Given the description of an element on the screen output the (x, y) to click on. 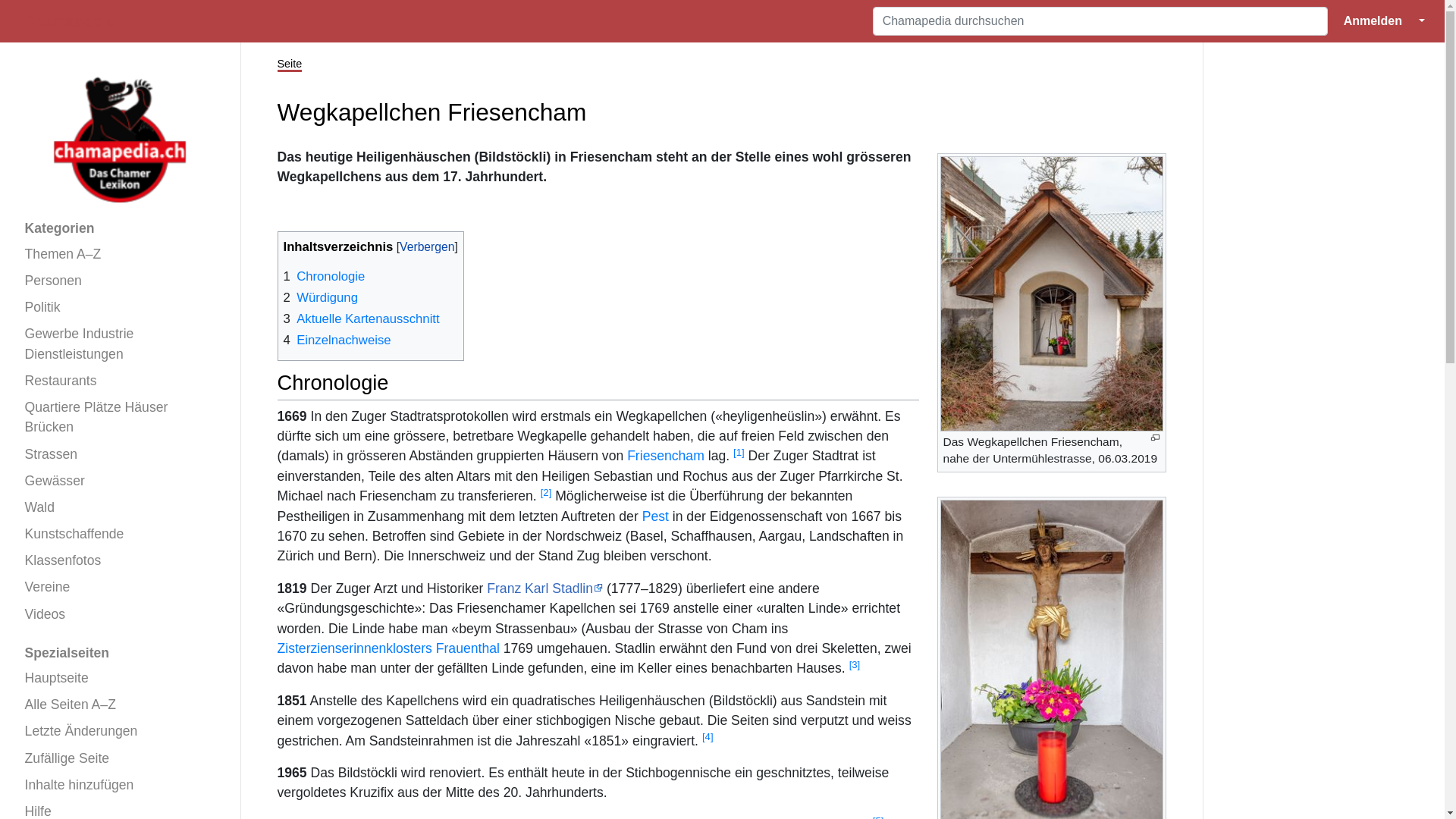
Videos Element type: text (120, 613)
Chamapedia Element type: text (69, 21)
Hauptseite Element type: text (120, 677)
Restaurants Element type: text (120, 379)
Klassenfotos Element type: text (120, 560)
Friesencham Element type: text (665, 455)
Pest Element type: text (655, 516)
Anmelden Element type: text (1372, 20)
[2] Element type: text (546, 492)
[3] Element type: text (854, 664)
Strassen Element type: text (120, 453)
Franz Karl Stadlin Element type: text (544, 588)
Gewerbe Industrie Dienstleistungen Element type: text (120, 344)
[1] Element type: text (738, 452)
Seite Element type: text (289, 64)
3 Aktuelle Kartenausschnitt Element type: text (361, 318)
Spezialseiten Element type: text (120, 652)
Kunstschaffende Element type: text (120, 533)
Wald Element type: text (120, 506)
1 Chronologie Element type: text (324, 276)
[4] Element type: text (707, 736)
Chamapedia durchsuchen [alt-shift-f] Element type: hover (1099, 20)
Personen Element type: text (120, 279)
Politik Element type: text (120, 307)
Kategorien Element type: text (120, 228)
Vereine Element type: text (120, 586)
Zisterzienserinnenklosters Frauenthal Element type: text (388, 647)
4 Einzelnachweise Element type: text (337, 339)
